Given the description of an element on the screen output the (x, y) to click on. 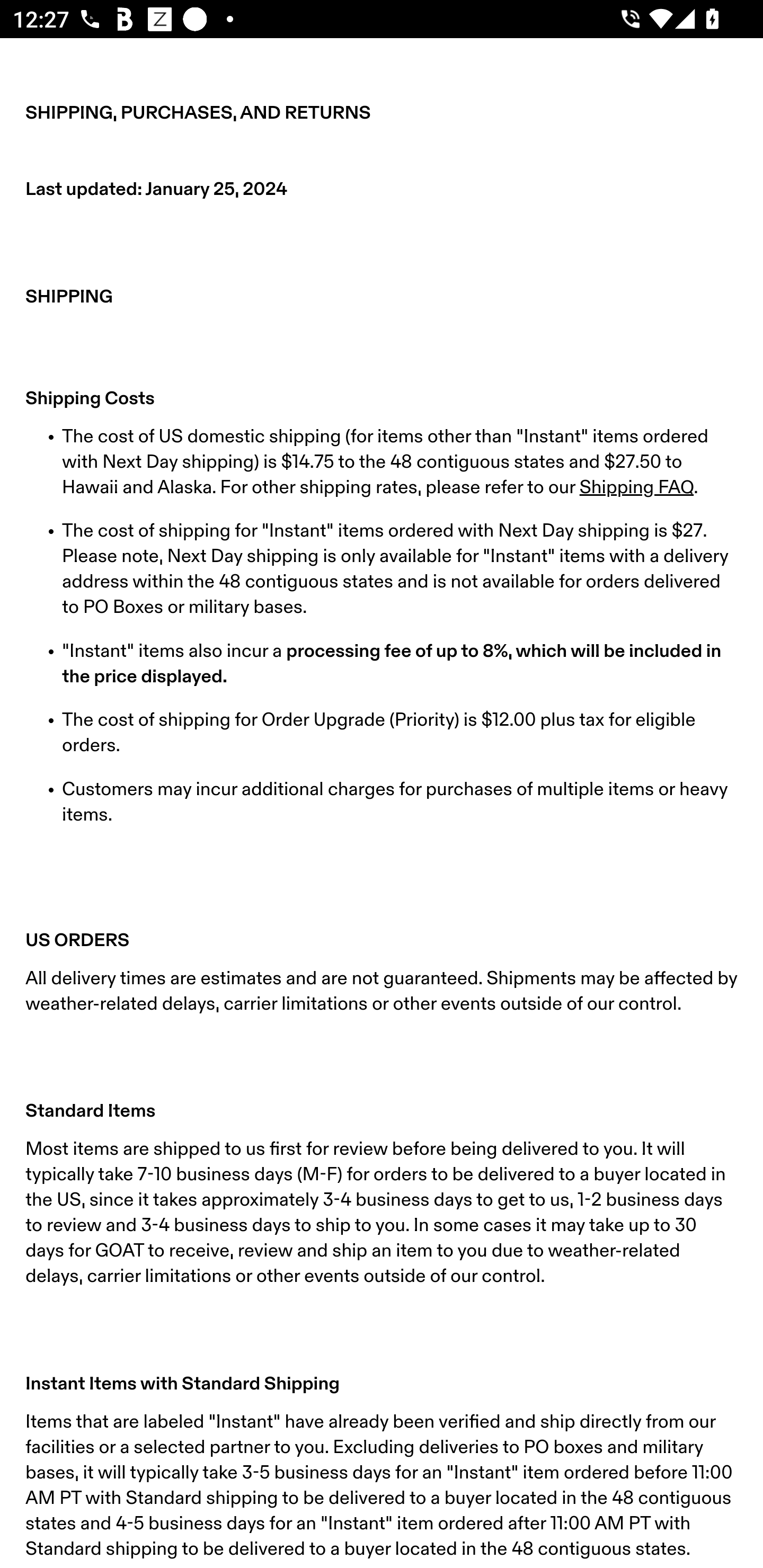
Shipping FAQ (636, 487)
